Given the description of an element on the screen output the (x, y) to click on. 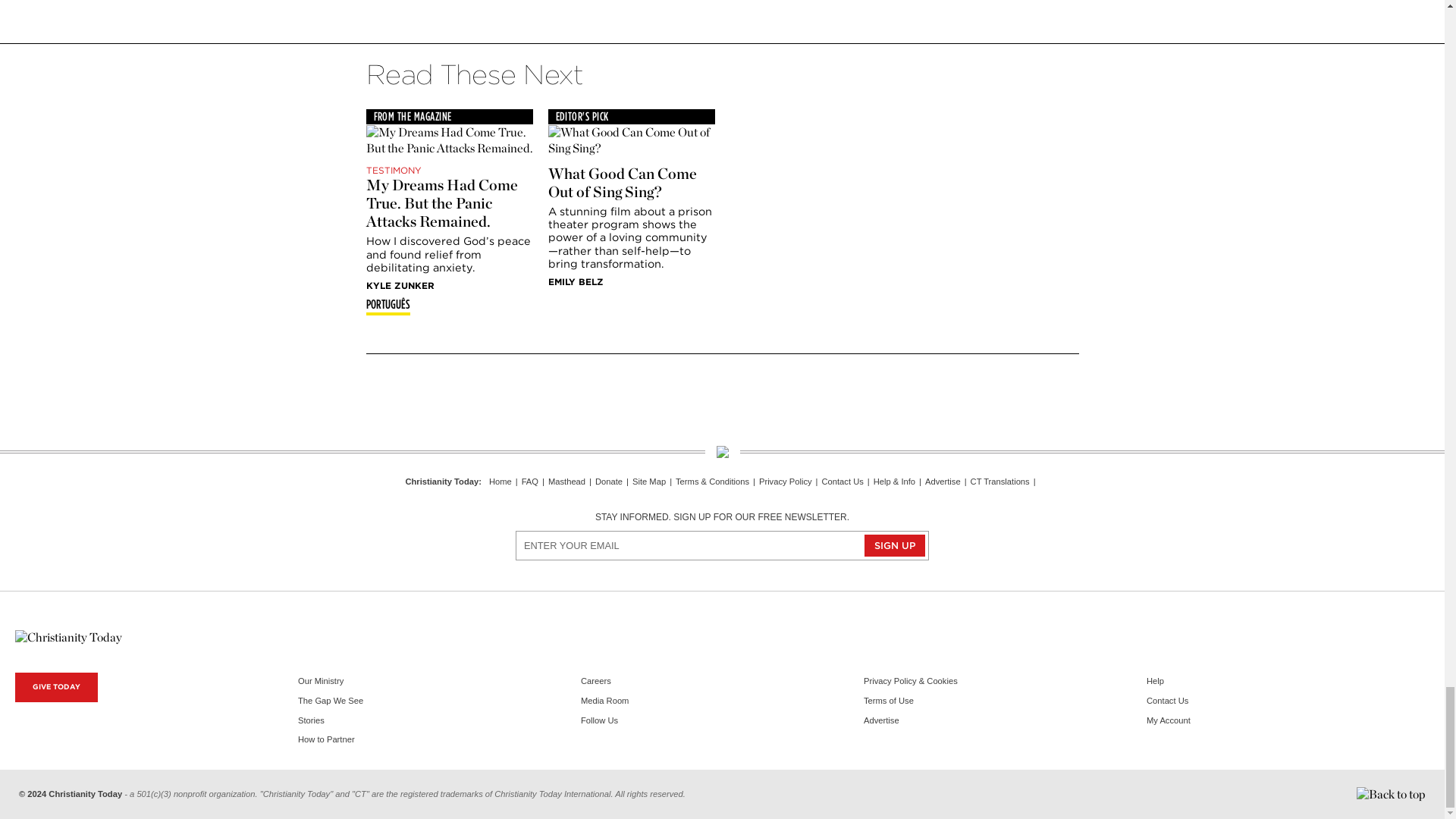
Sign Up (894, 545)
